Given the description of an element on the screen output the (x, y) to click on. 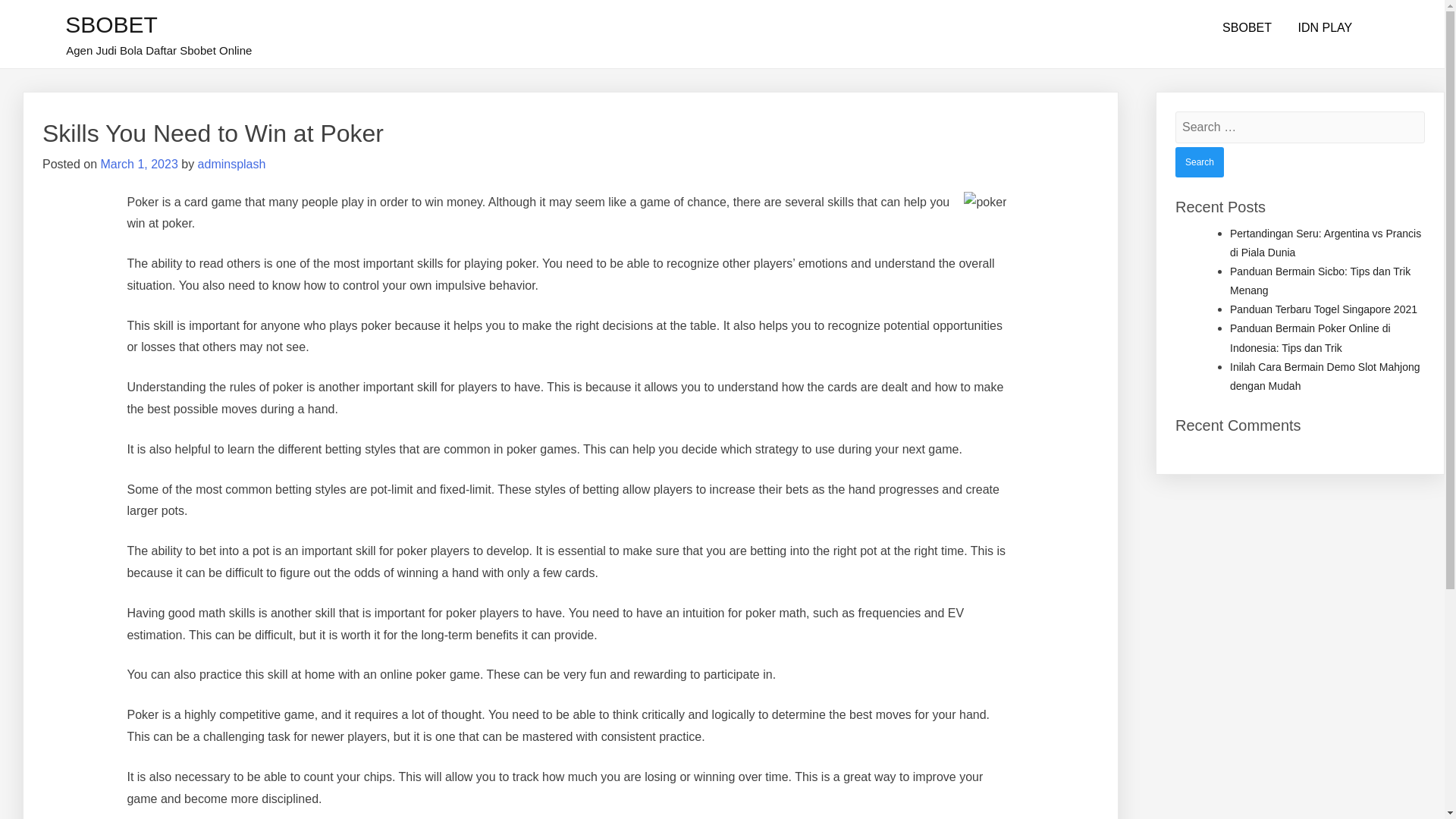
Search (1199, 162)
IDN PLAY (1323, 28)
Search (1199, 162)
Inilah Cara Bermain Demo Slot Mahjong dengan Mudah (1325, 376)
March 1, 2023 (138, 164)
Panduan Terbaru Togel Singapore 2021 (1323, 309)
adminsplash (232, 164)
Panduan Bermain Sicbo: Tips dan Trik Menang (1320, 280)
Pertandingan Seru: Argentina vs Prancis di Piala Dunia (1325, 242)
Search (1199, 162)
